Given the description of an element on the screen output the (x, y) to click on. 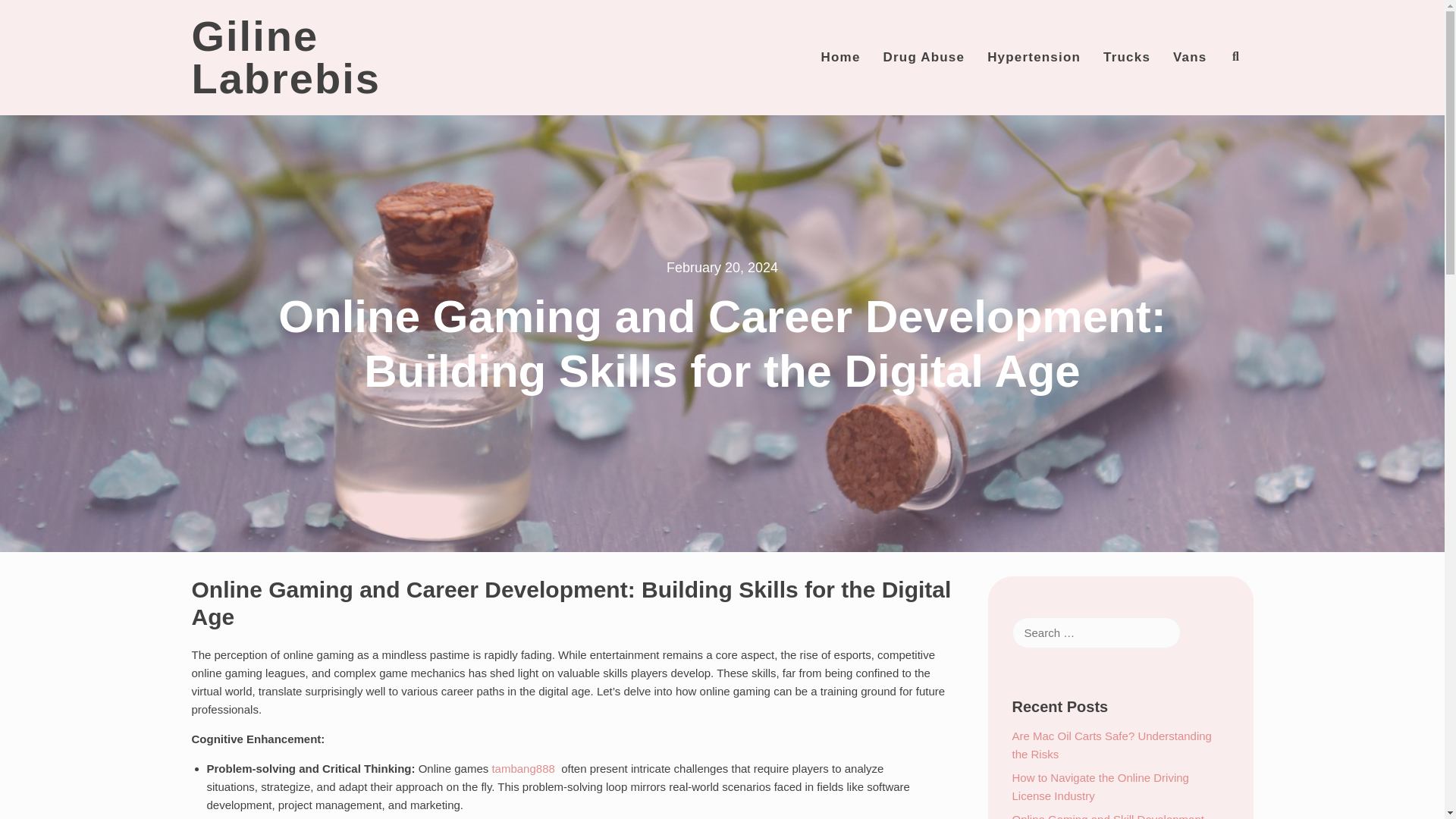
Trucks (1126, 57)
Search (29, 14)
Vans (1189, 57)
Drug Abuse (924, 57)
Online Gaming and Skill Development (1107, 816)
Giline Labrebis (285, 57)
Home (840, 57)
Are Mac Oil Carts Safe? Understanding the Risks (1111, 744)
How to Navigate the Online Driving License Industry (1099, 786)
tambang888 (523, 768)
